Given the description of an element on the screen output the (x, y) to click on. 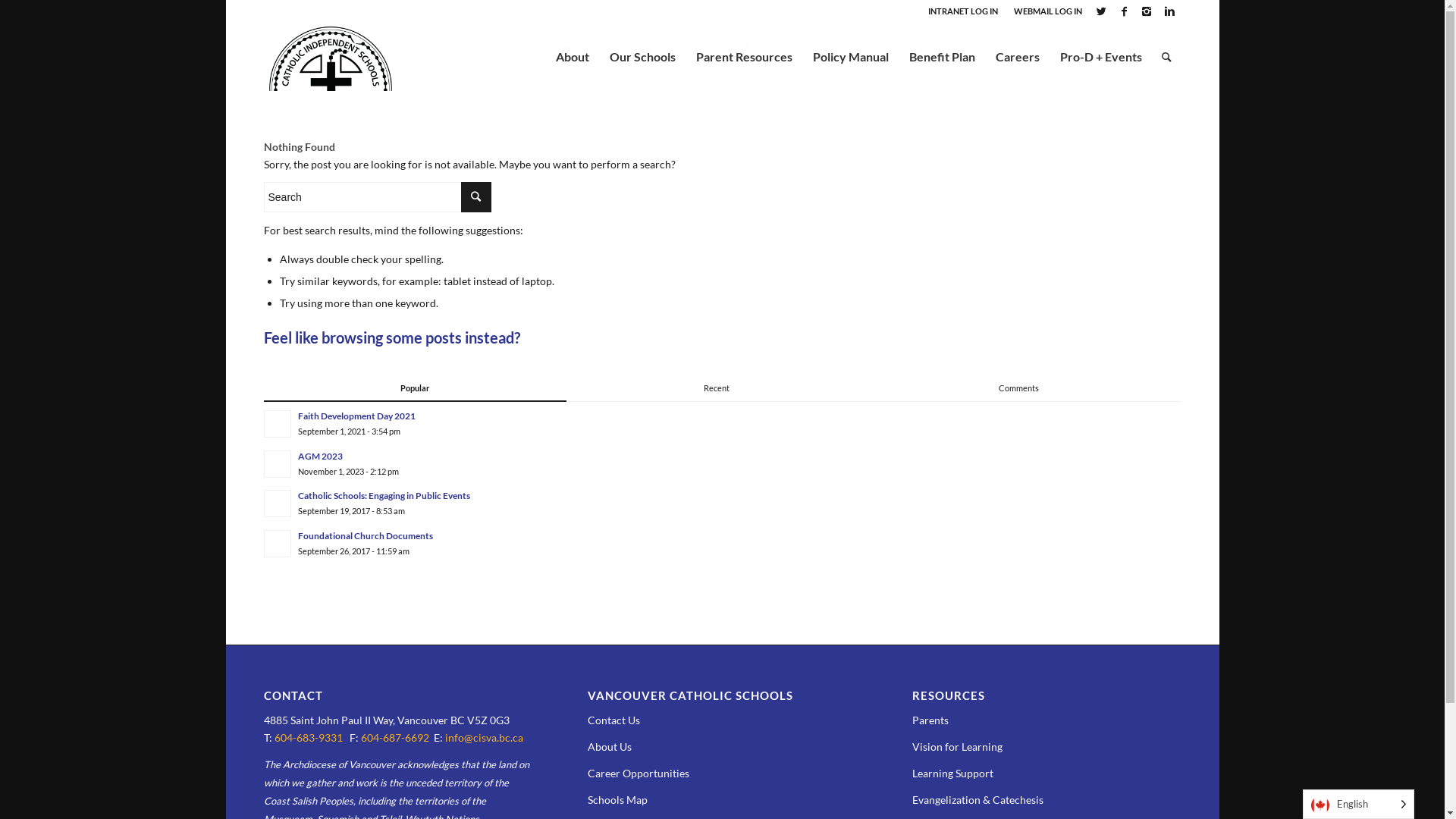
WEBMAIL LOG IN Element type: text (1047, 10)
INTRANET LOG IN Element type: text (962, 10)
Schools Map Element type: text (617, 799)
Careers Element type: text (1016, 56)
info@cisva.bc.ca Element type: text (483, 737)
Instagram Element type: hover (1146, 11)
Home Element type: text (276, 91)
AGM 2023
November 1, 2023 - 2:12 pm Element type: text (722, 463)
Foundational Church Documents
September 26, 2017 - 11:59 am Element type: text (722, 542)
Pro-D + Events Element type: text (1100, 56)
Parents Element type: text (930, 719)
Our Schools Element type: text (642, 56)
Evangelization & Catechesis Element type: text (977, 799)
Linkedin Element type: hover (1169, 11)
Policy Manual Element type: text (850, 56)
About Us Element type: text (609, 746)
Benefit Plan Element type: text (940, 56)
Faith Development Day 2021
September 1, 2021 - 3:54 pm Element type: text (722, 423)
Vision for Learning Element type: text (957, 746)
Contact Us Element type: text (613, 719)
Learning Support Element type: text (952, 772)
Facebook Element type: hover (1124, 11)
About Element type: text (572, 56)
Career Opportunities Element type: text (638, 772)
Parent Resources Element type: text (743, 56)
Twitter Element type: hover (1101, 11)
